Given the description of an element on the screen output the (x, y) to click on. 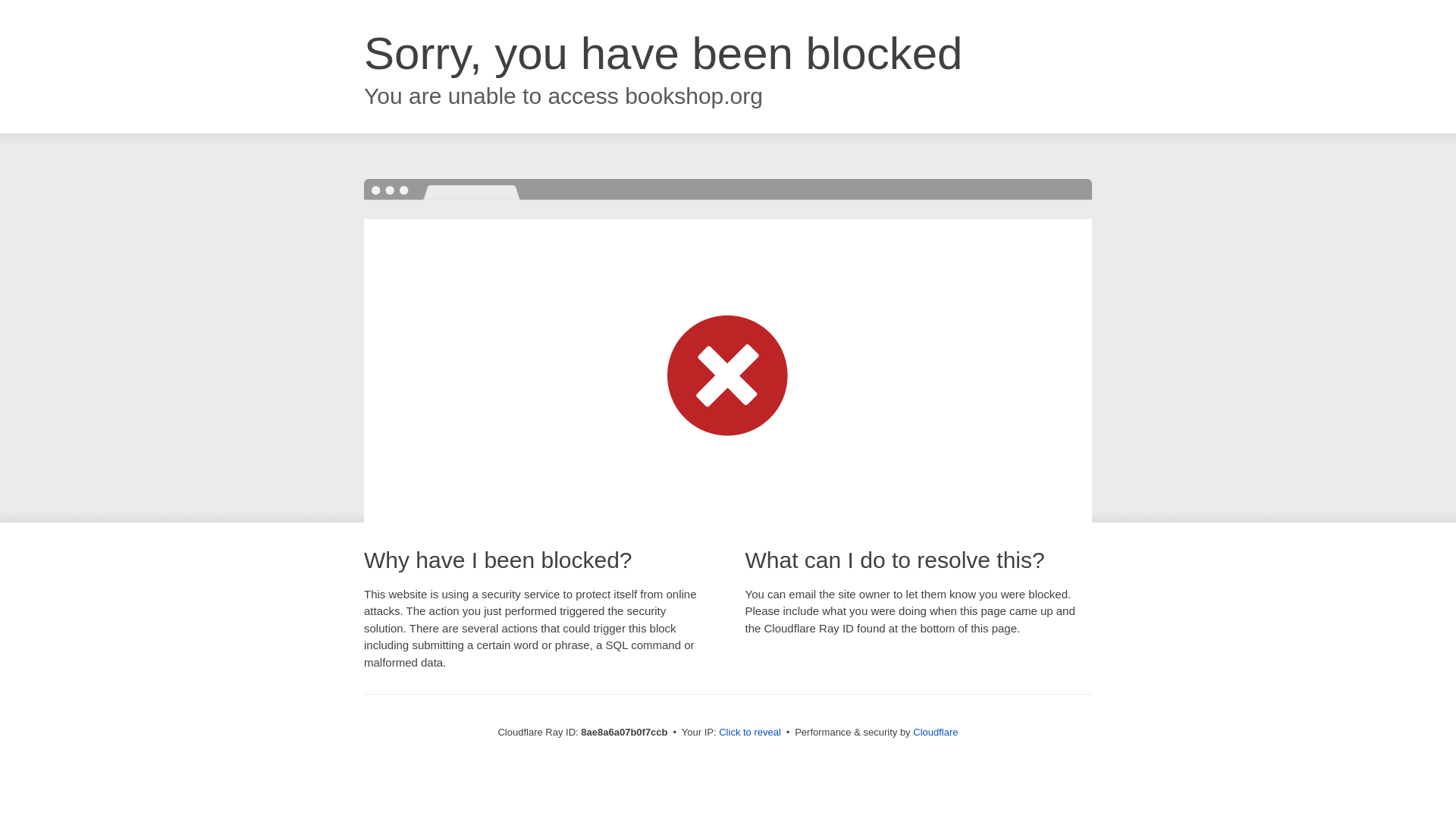
Cloudflare (935, 731)
Click to reveal (749, 732)
